Given the description of an element on the screen output the (x, y) to click on. 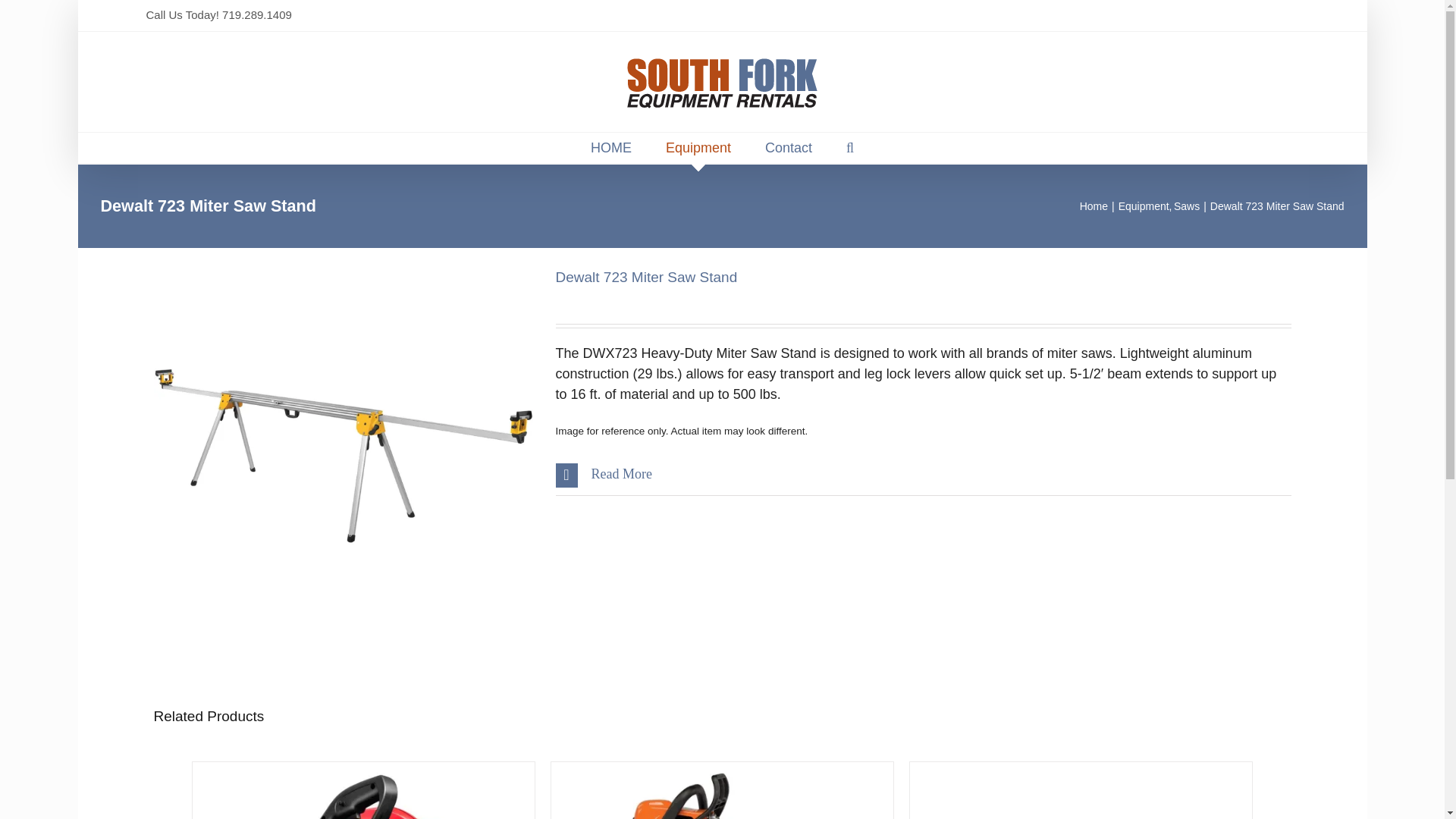
HOME (611, 147)
Equipment (697, 147)
home (611, 147)
